Given the description of an element on the screen output the (x, y) to click on. 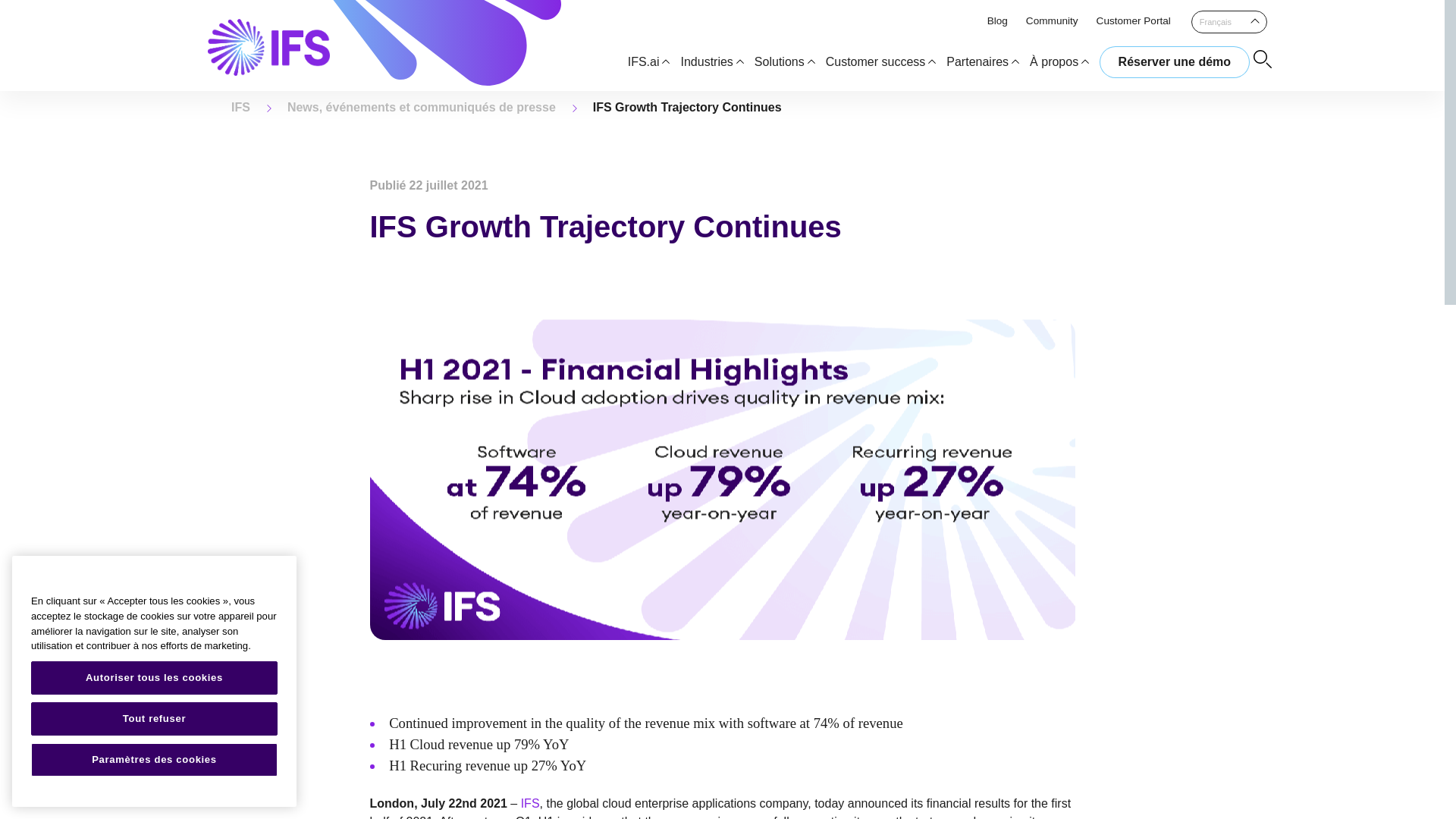
IFS Growth Trajectory Continues (686, 106)
Home (240, 106)
News (421, 106)
